Given the description of an element on the screen output the (x, y) to click on. 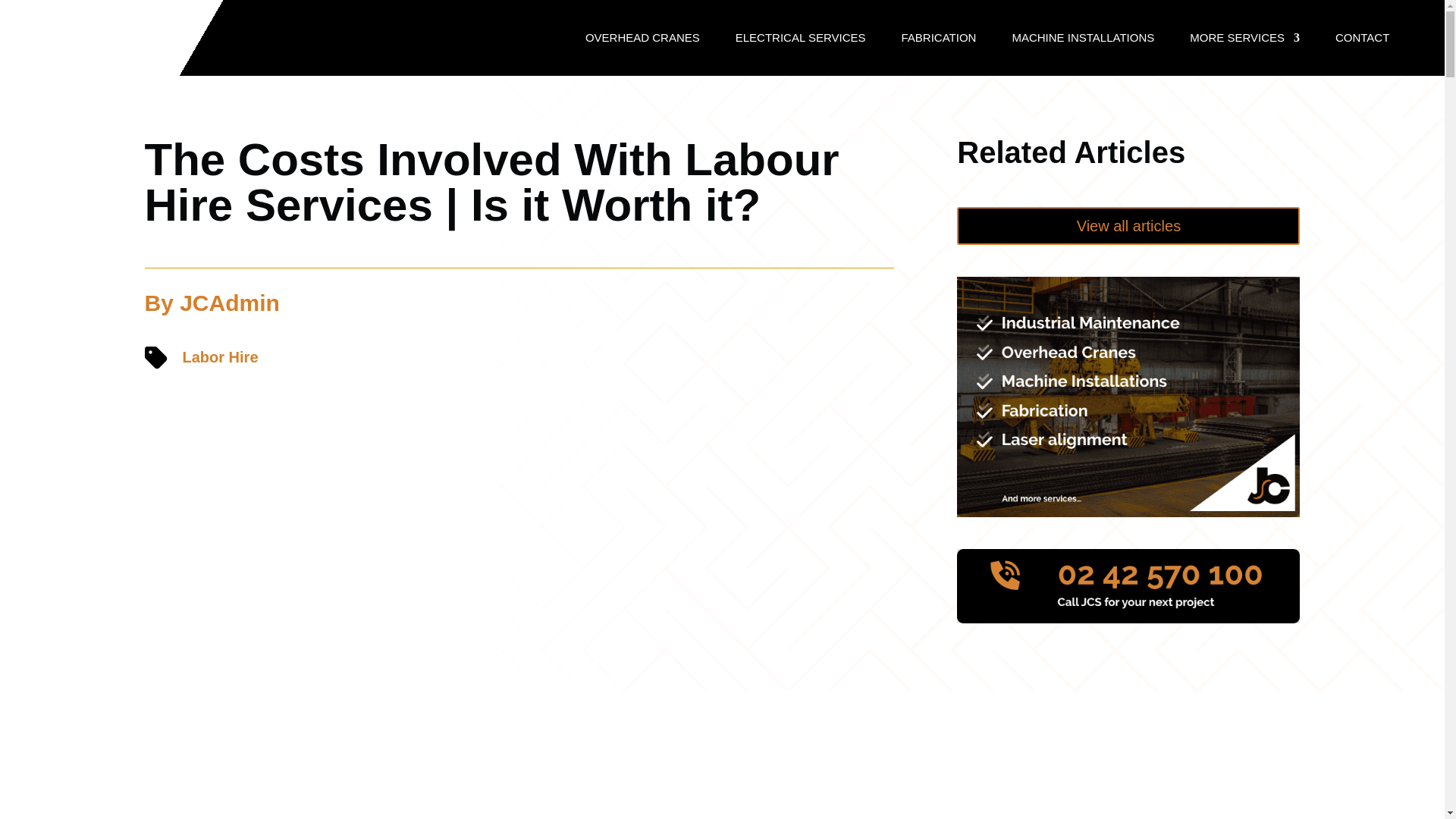
MORE SERVICES (1244, 37)
View all articles (1128, 225)
OVERHEAD CRANES (642, 37)
FABRICATION (938, 37)
ELECTRICAL SERVICES (800, 37)
cta-call-jcs (1128, 585)
jcs-services-banner (1128, 396)
CONTACT (1362, 37)
MACHINE INSTALLATIONS (1082, 37)
Labor Hire (219, 356)
